Given the description of an element on the screen output the (x, y) to click on. 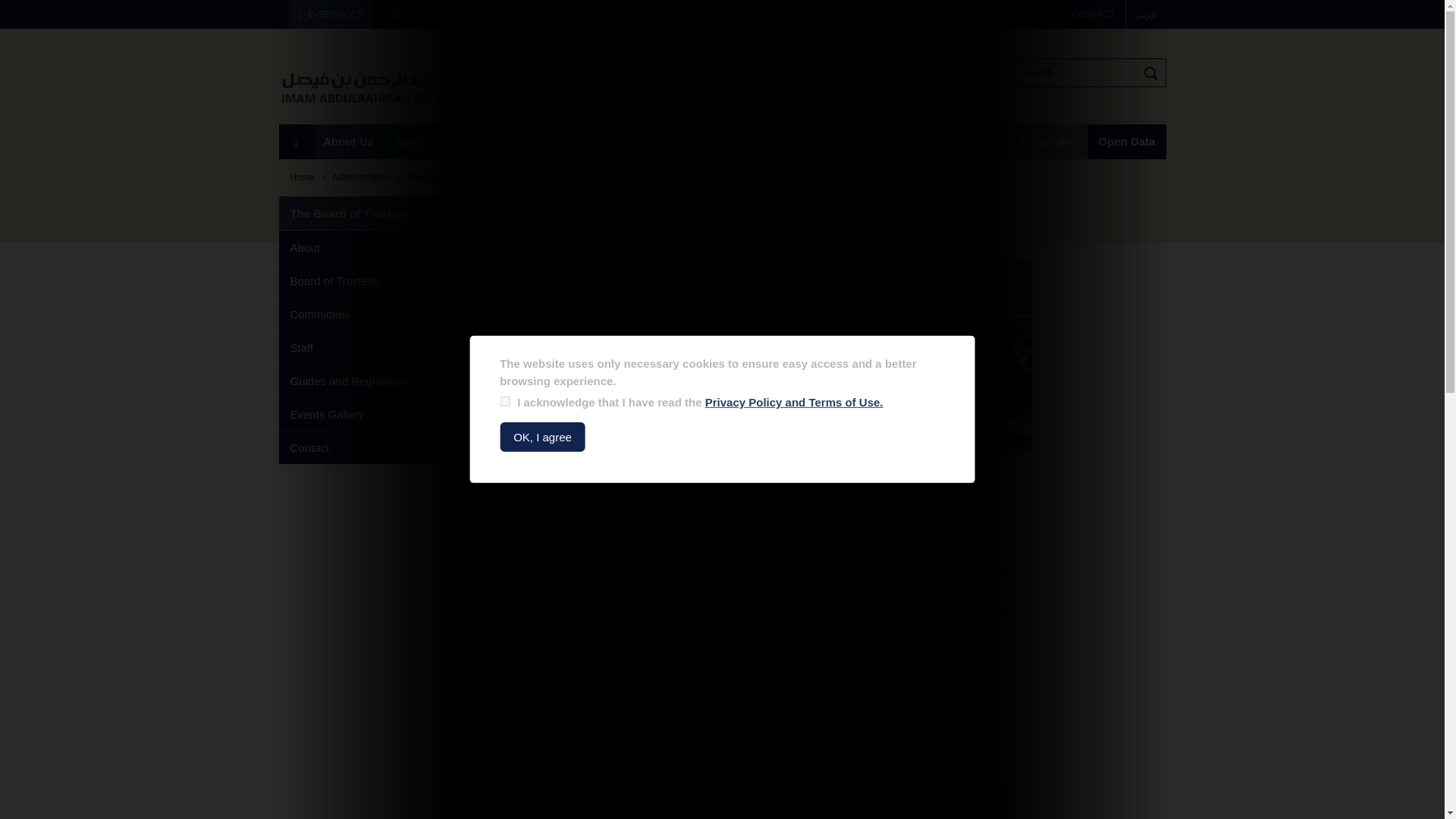
HUMAN RESOURCES (569, 14)
ALUMNI (661, 14)
STUDENTS (467, 14)
LIBRARY (727, 14)
CONTACT (1092, 14)
JOBS (966, 14)
ADMISSION (801, 14)
The Board of Trustees (777, 355)
EVENTS (916, 14)
DIRECTORY (1024, 14)
on (504, 401)
EMAIL (400, 14)
E-SERVICES (330, 14)
NEWS (866, 14)
